Given the description of an element on the screen output the (x, y) to click on. 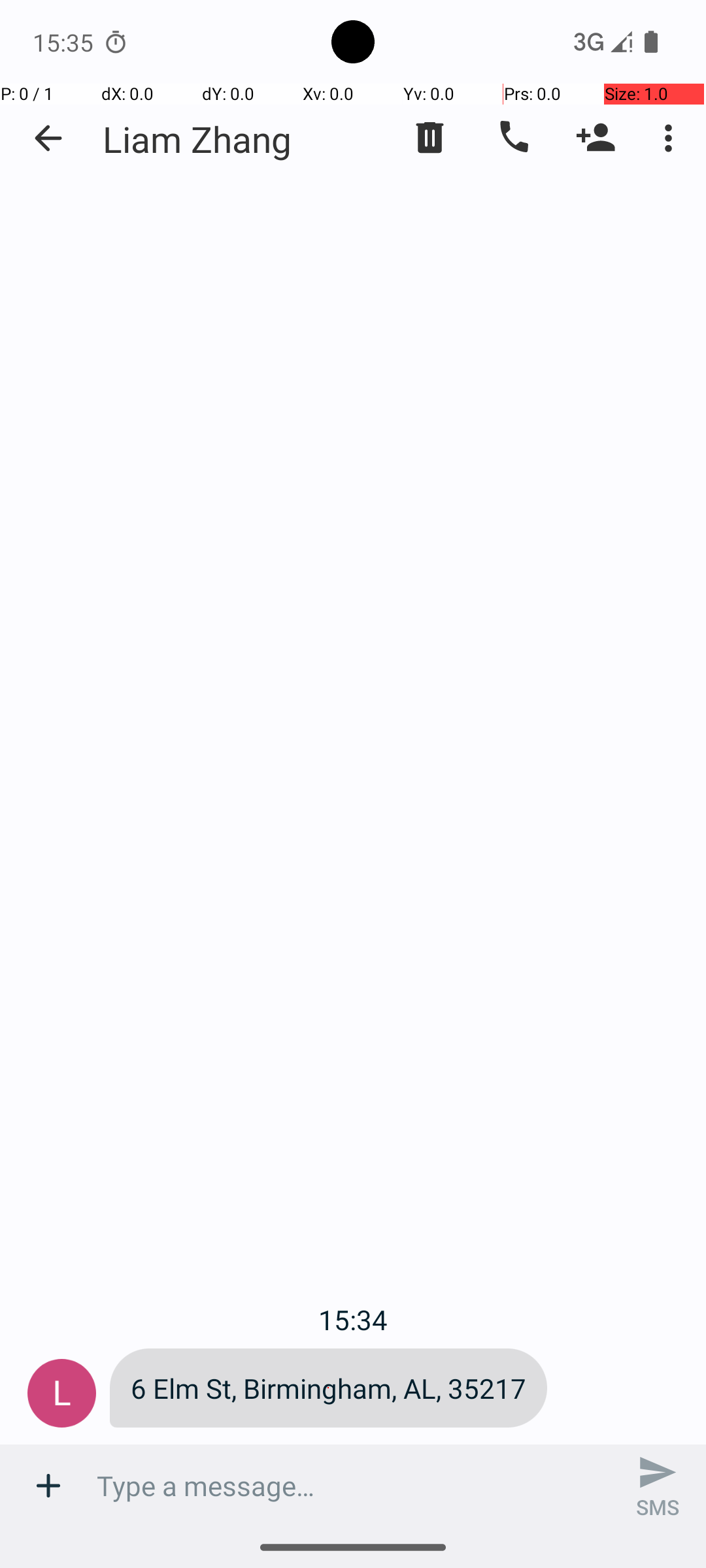
Liam Zhang Element type: android.widget.TextView (196, 138)
6 Elm St, Birmingham, AL, 35217 Element type: android.widget.TextView (328, 1387)
